Given the description of an element on the screen output the (x, y) to click on. 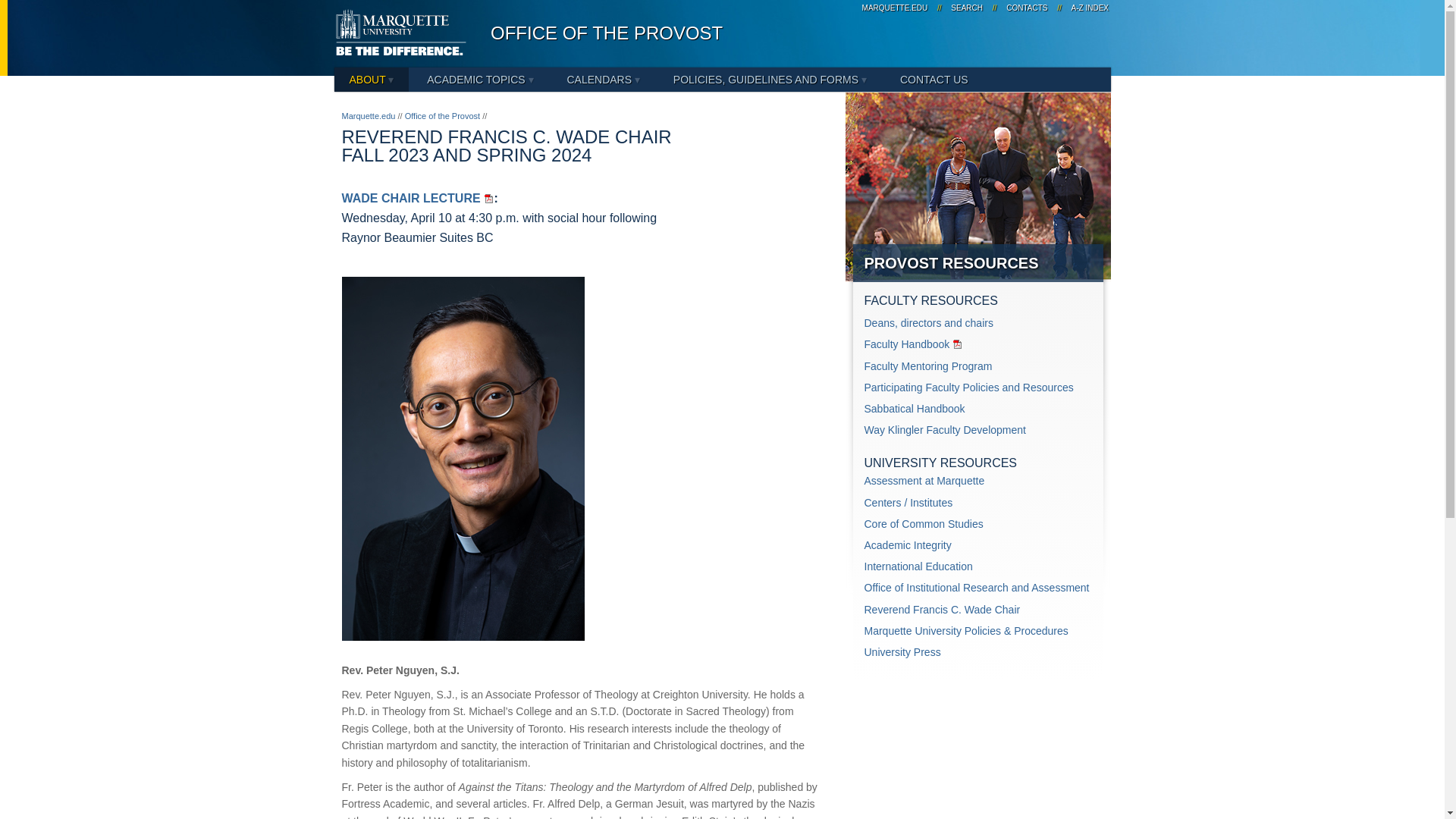
ACADEMIC TOPICS (480, 79)
CONTACTS (1027, 8)
OFFICE OF THE PROVOST (606, 32)
POLICIES, GUIDELINES AND FORMS (770, 79)
SEARCH (967, 8)
A-Z INDEX (1087, 8)
MARQUETTE.EDU (895, 8)
CALENDARS (602, 79)
ABOUT (371, 79)
